Given the description of an element on the screen output the (x, y) to click on. 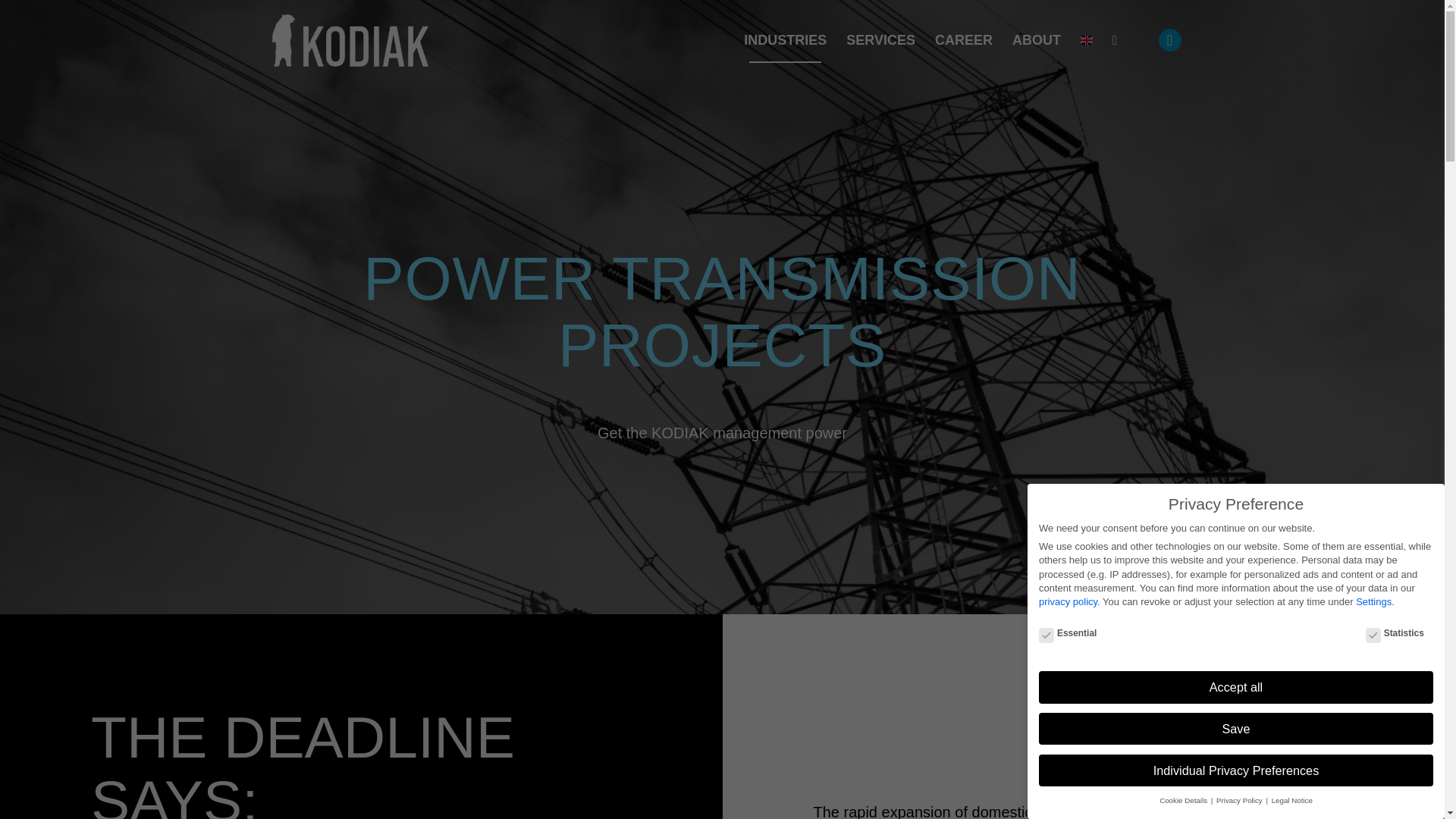
ABOUT (1036, 40)
SERVICES (879, 40)
CAREER (963, 40)
INDUSTRIES (784, 40)
LinkedIn (1169, 39)
English (1086, 40)
